Given the description of an element on the screen output the (x, y) to click on. 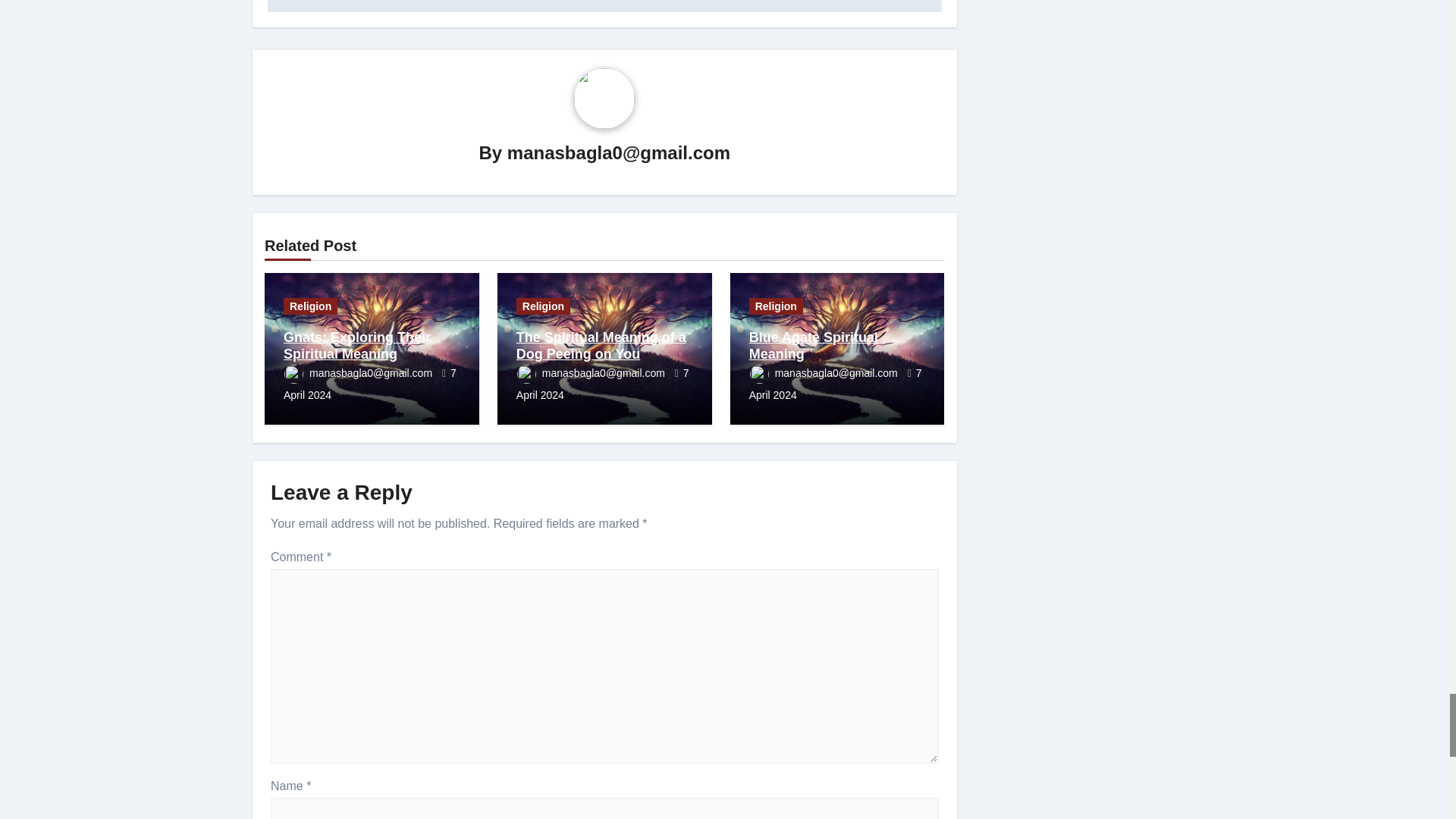
Permalink to: Blue Agate Spiritual Meaning (813, 345)
Permalink to: The Spiritual Meaning of a Dog Peeing on You (600, 345)
Permalink to: Gnats: Exploring Their Spiritual Meaning (356, 345)
